Given the description of an element on the screen output the (x, y) to click on. 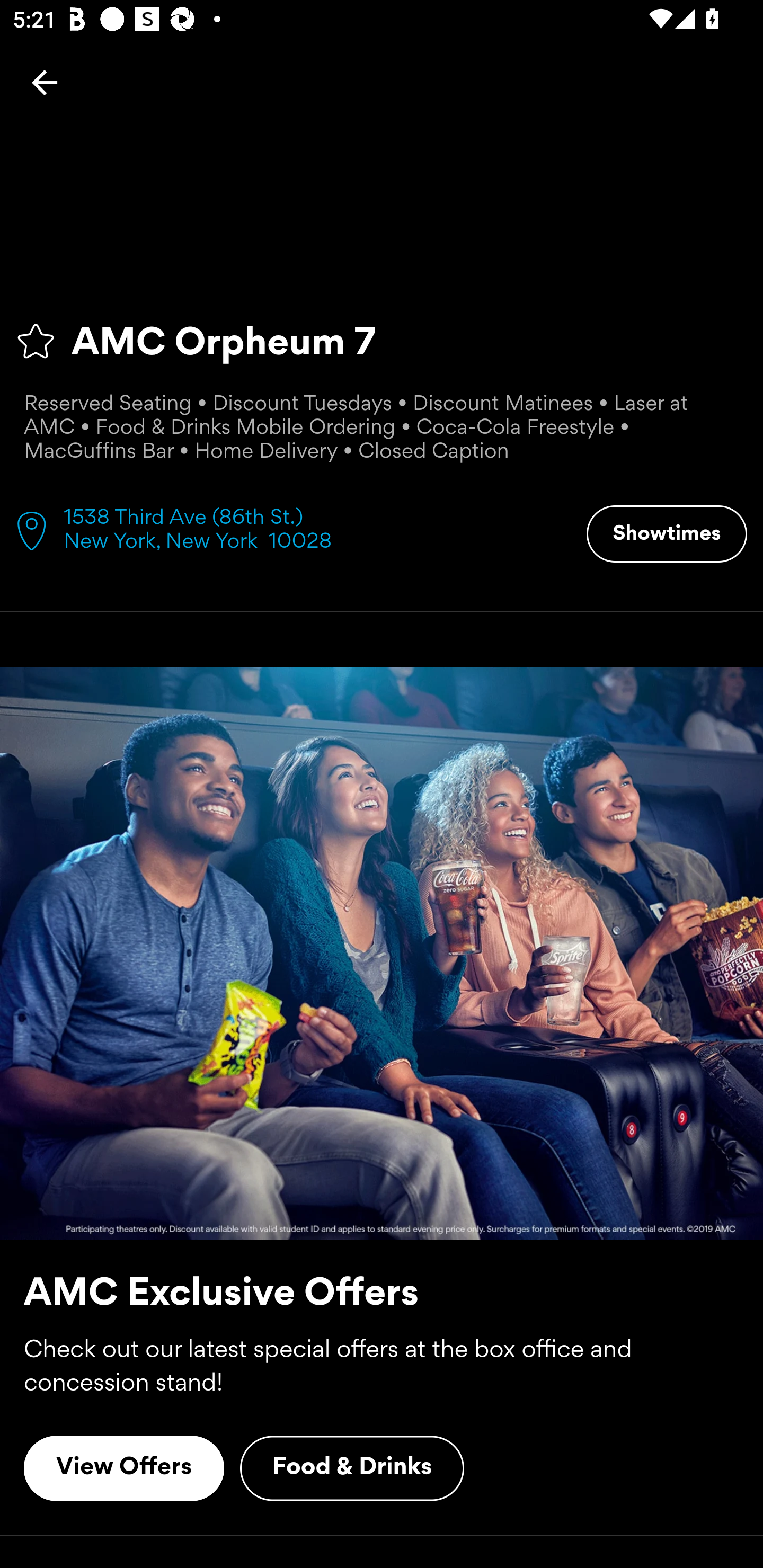
Back (44, 82)
AMC Orpheum 7 (381, 340)
Showtimes (666, 533)
View Offers (123, 1468)
Food & Drinks (351, 1468)
